Given the description of an element on the screen output the (x, y) to click on. 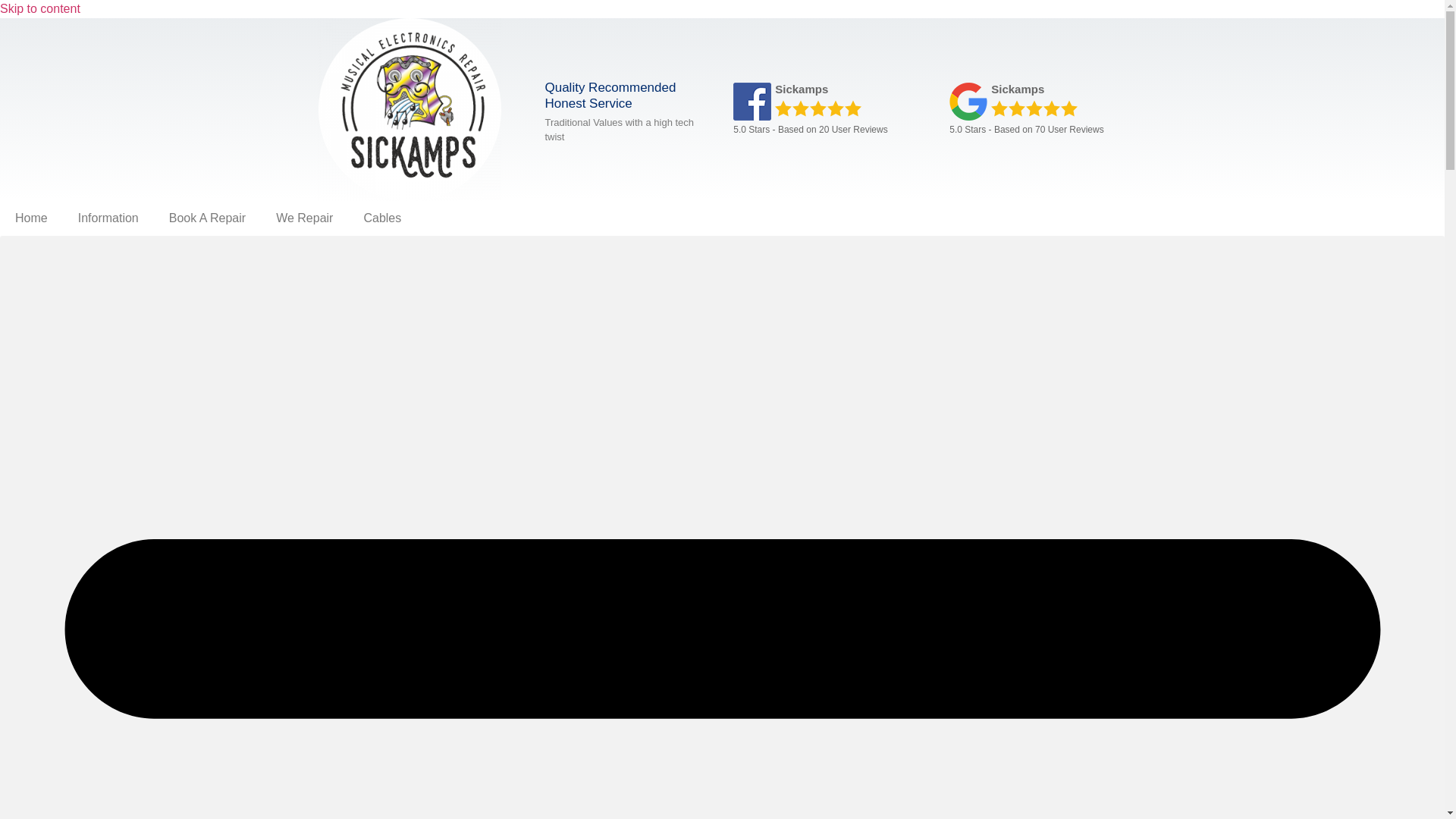
Book A Repair (207, 217)
Quality Recommended Honest Service (609, 94)
Skip to content (40, 8)
Home (31, 217)
Information (108, 217)
We Repair (303, 217)
